Given the description of an element on the screen output the (x, y) to click on. 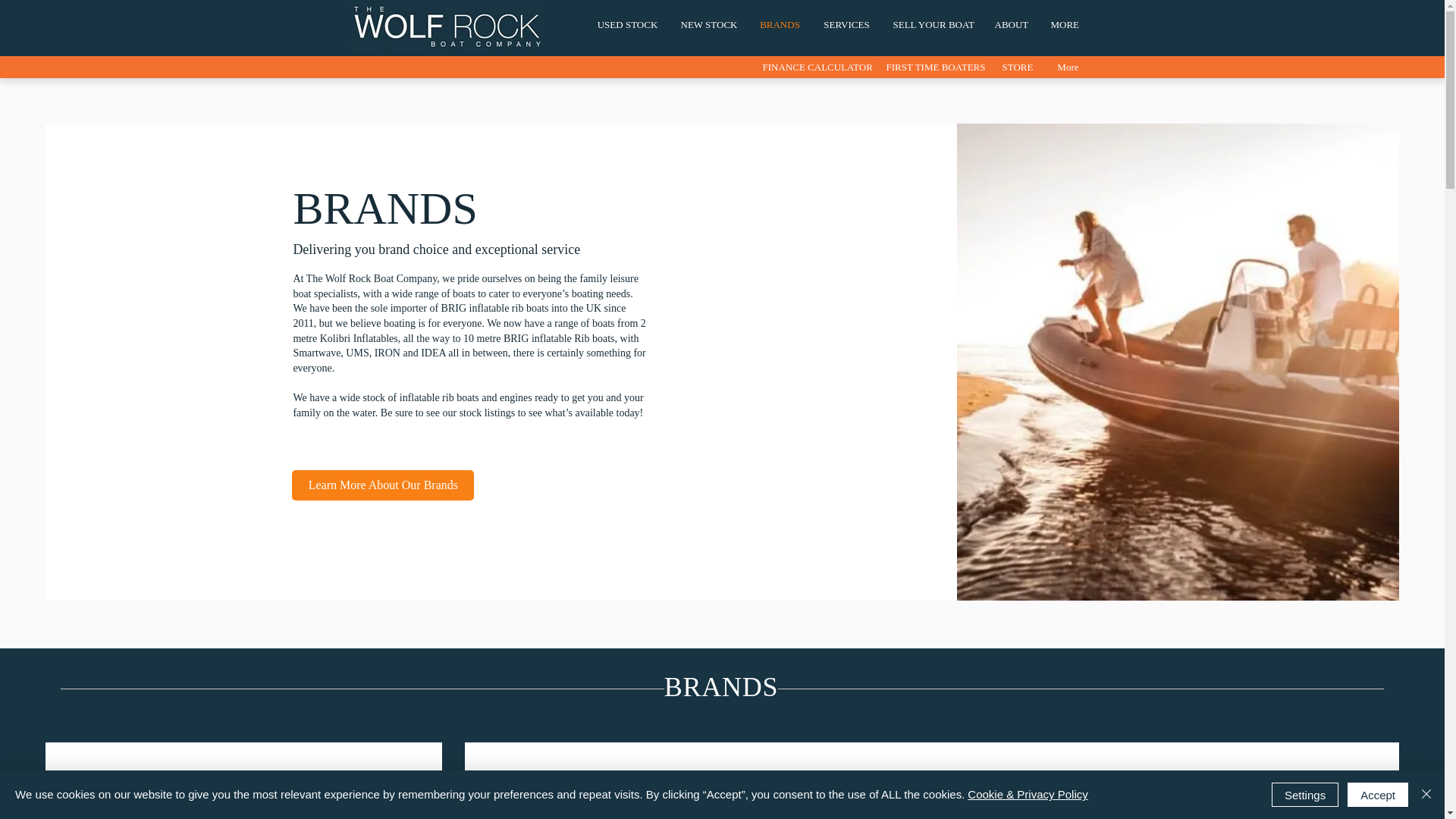
USED STOCK (626, 25)
SELL YOUR BOAT (931, 25)
ABOUT (1010, 25)
SERVICES (845, 25)
BRANDS (779, 25)
STORE (1016, 67)
Learn More About Our Brands (383, 485)
FINANCE CALCULATOR (813, 67)
NEW STOCK (708, 25)
FIRST TIME BOATERS (933, 67)
